Given the description of an element on the screen output the (x, y) to click on. 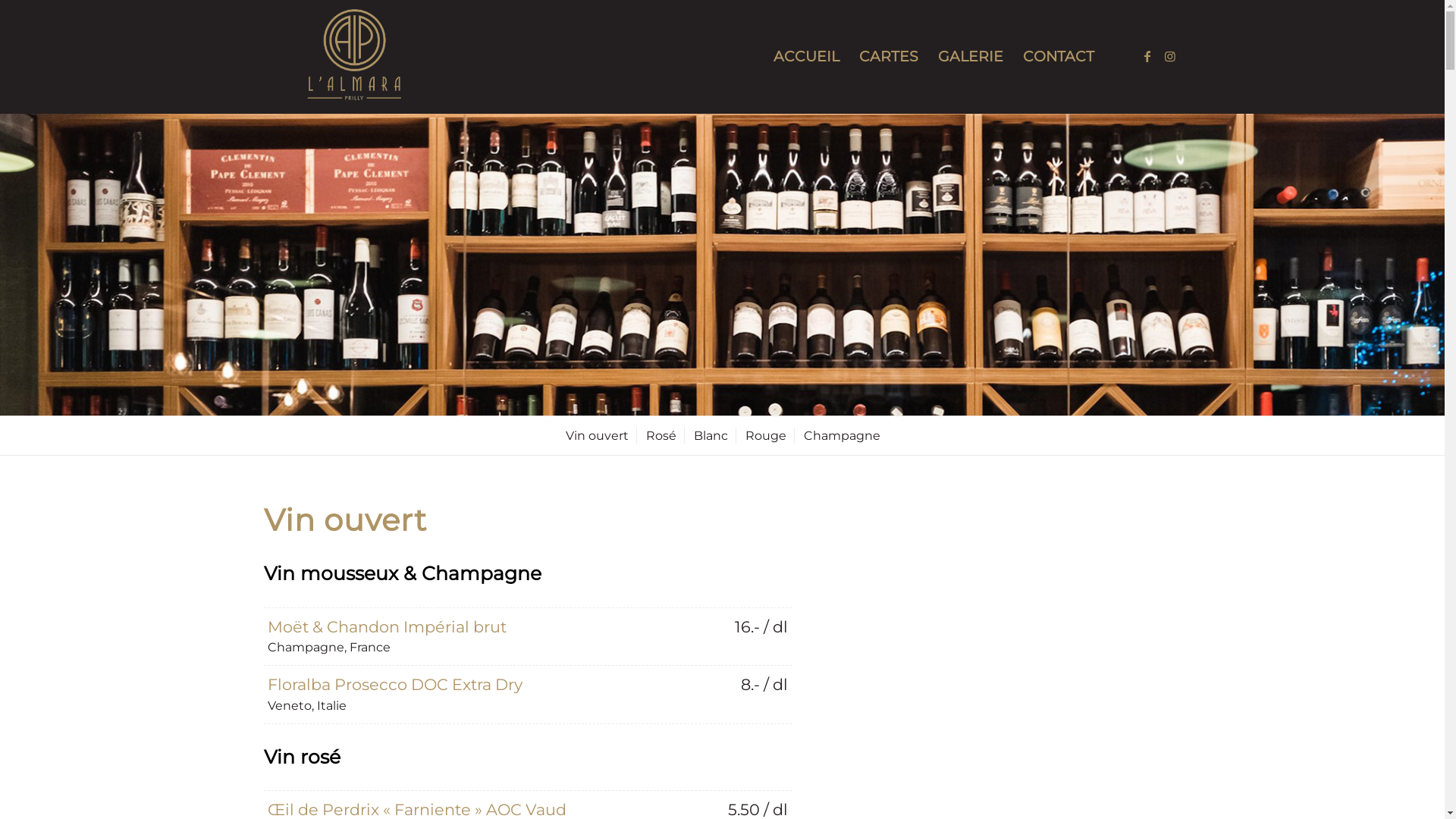
Facebook Element type: hover (1146, 55)
ACCUEIL Element type: text (805, 56)
CARTES Element type: text (888, 56)
Blanc Element type: text (709, 435)
CONTACT Element type: text (1058, 56)
Rouge Element type: text (764, 435)
Vin ouvert Element type: text (596, 435)
GALERIE Element type: text (970, 56)
Instagram Element type: hover (1169, 55)
Champagne Element type: text (840, 435)
